Given the description of an element on the screen output the (x, y) to click on. 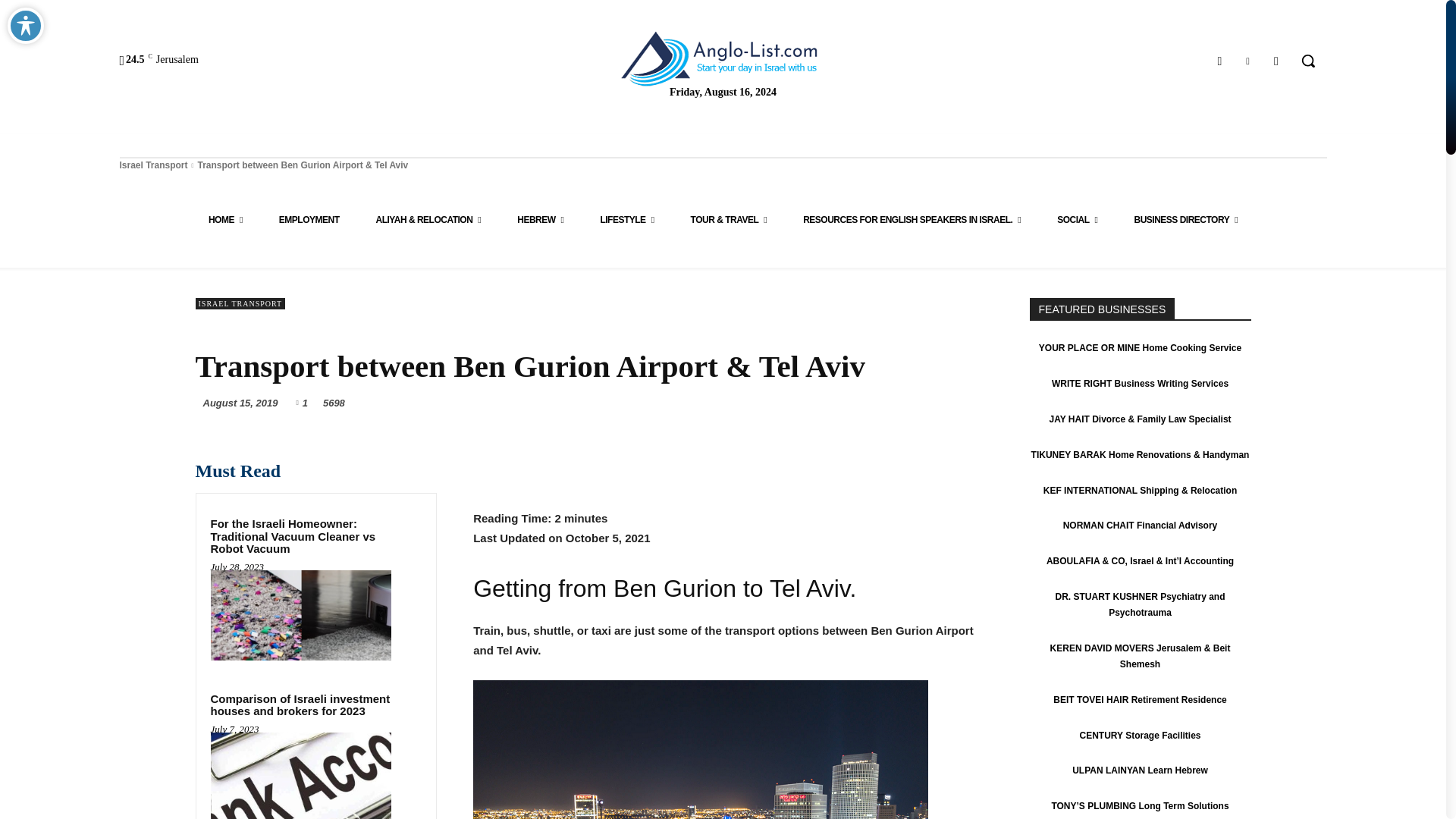
Twitter (1247, 60)
View all posts in Israel Transport (153, 164)
Youtube (1275, 60)
Facebook (1219, 60)
